Given the description of an element on the screen output the (x, y) to click on. 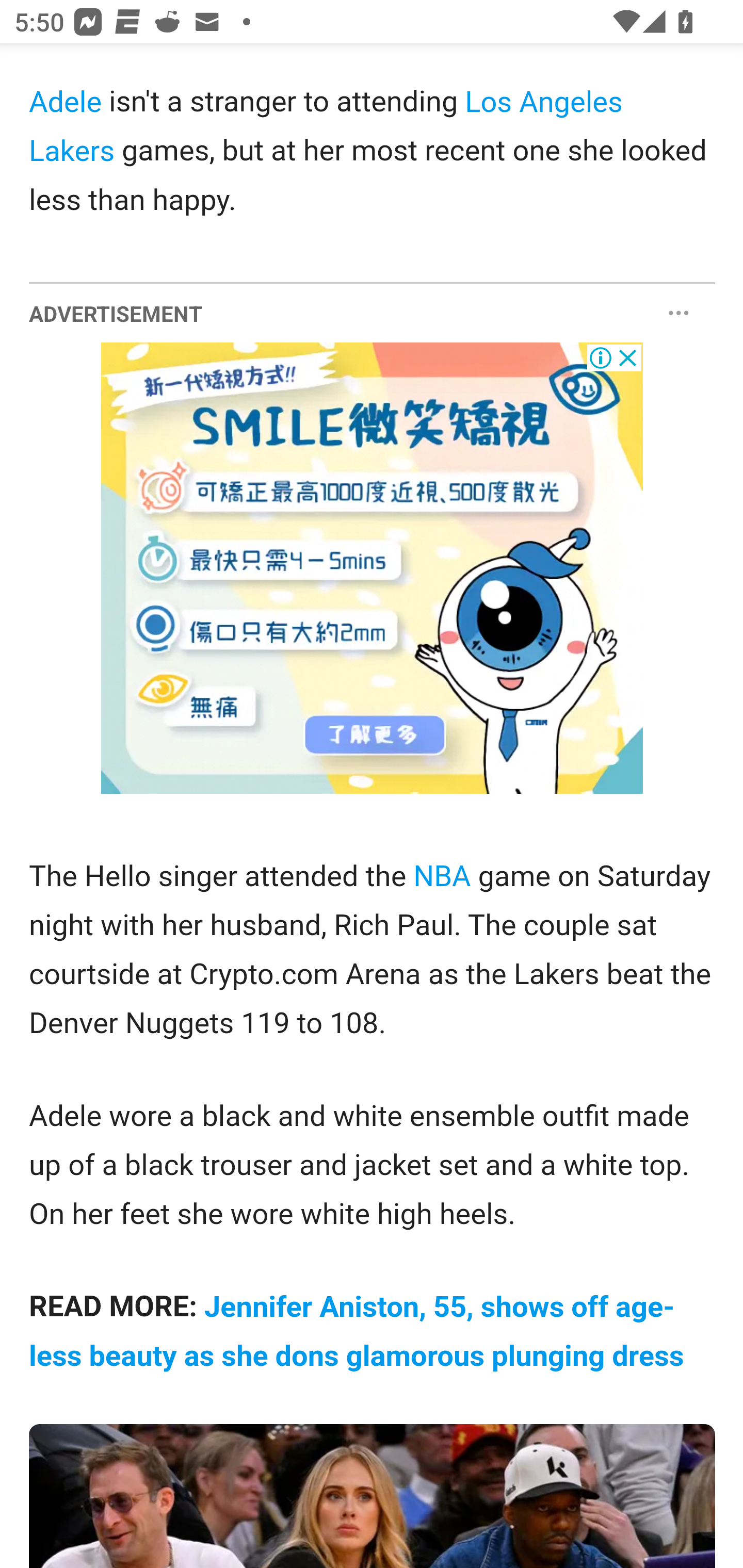
Adele (65, 103)
Los Angeles Lakers (325, 127)
NBA (441, 876)
The couple sat courtside together at the game (372, 1495)
